Given the description of an element on the screen output the (x, y) to click on. 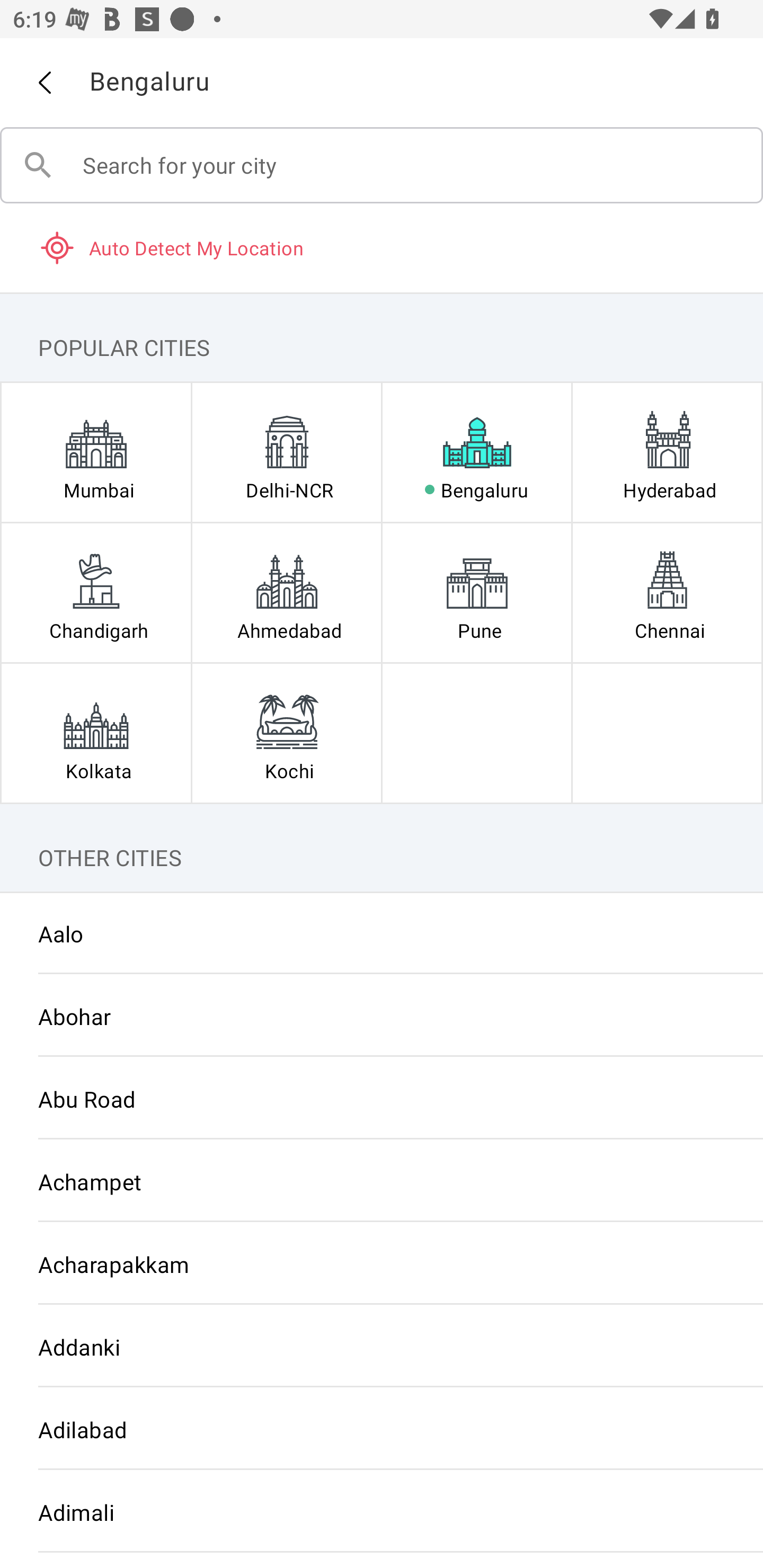
Back (44, 82)
Search for your city (381, 165)
Auto Detect My Location (381, 247)
Mumbai (95, 452)
Delhi-NCR (286, 452)
Bengaluru (476, 452)
Hyderabad (667, 452)
Chandigarh (95, 592)
Ahmedabad (286, 592)
Pune (476, 592)
Chennai (667, 592)
Kolkata (95, 732)
Kochi (286, 732)
Aalo (381, 933)
Abohar (381, 1015)
Abu Road (381, 1098)
Achampet (381, 1181)
Acharapakkam (381, 1263)
Addanki (381, 1346)
Adilabad (381, 1429)
Adimali (381, 1512)
